Given the description of an element on the screen output the (x, y) to click on. 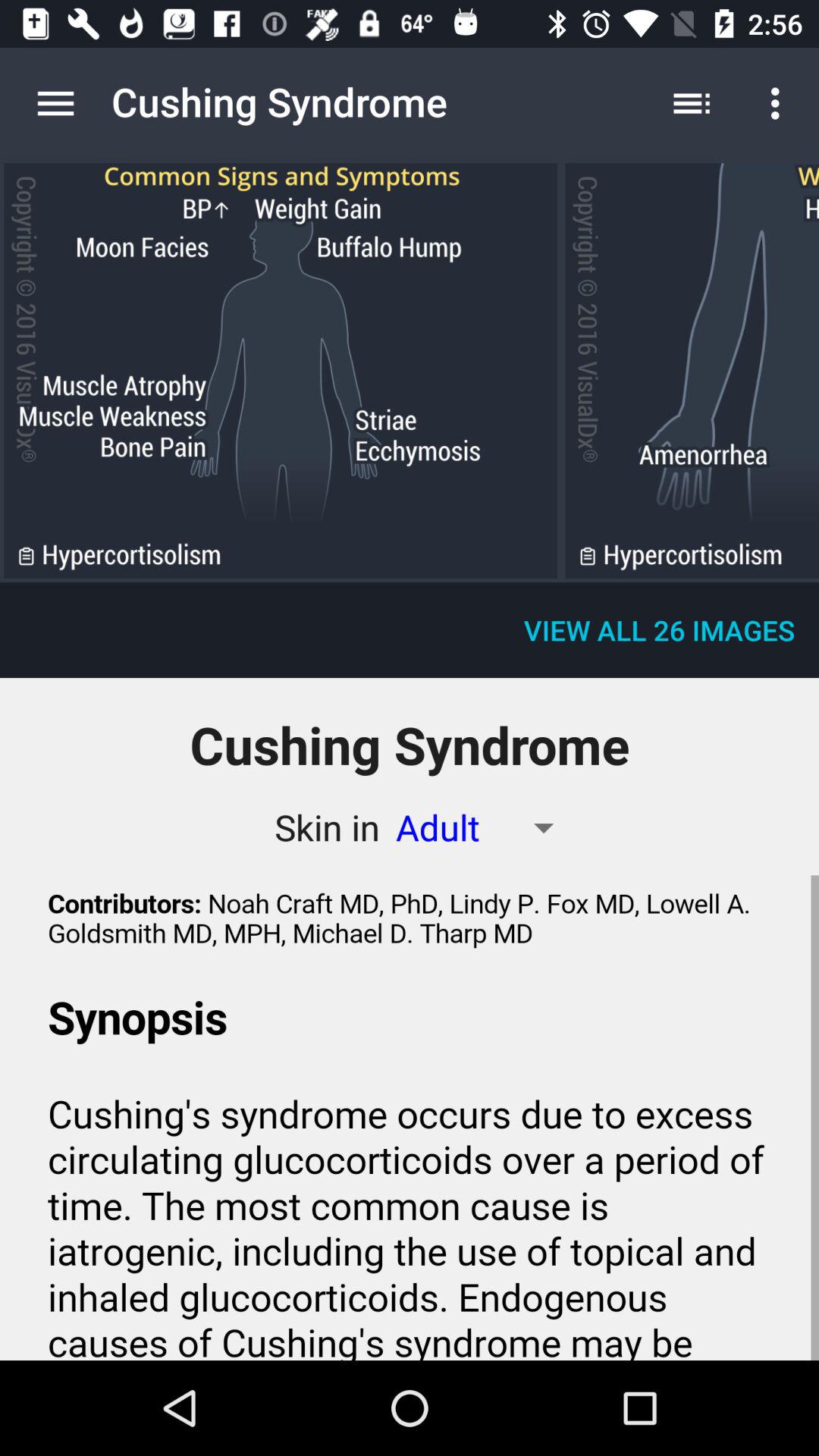
screen page (280, 370)
